Given the description of an element on the screen output the (x, y) to click on. 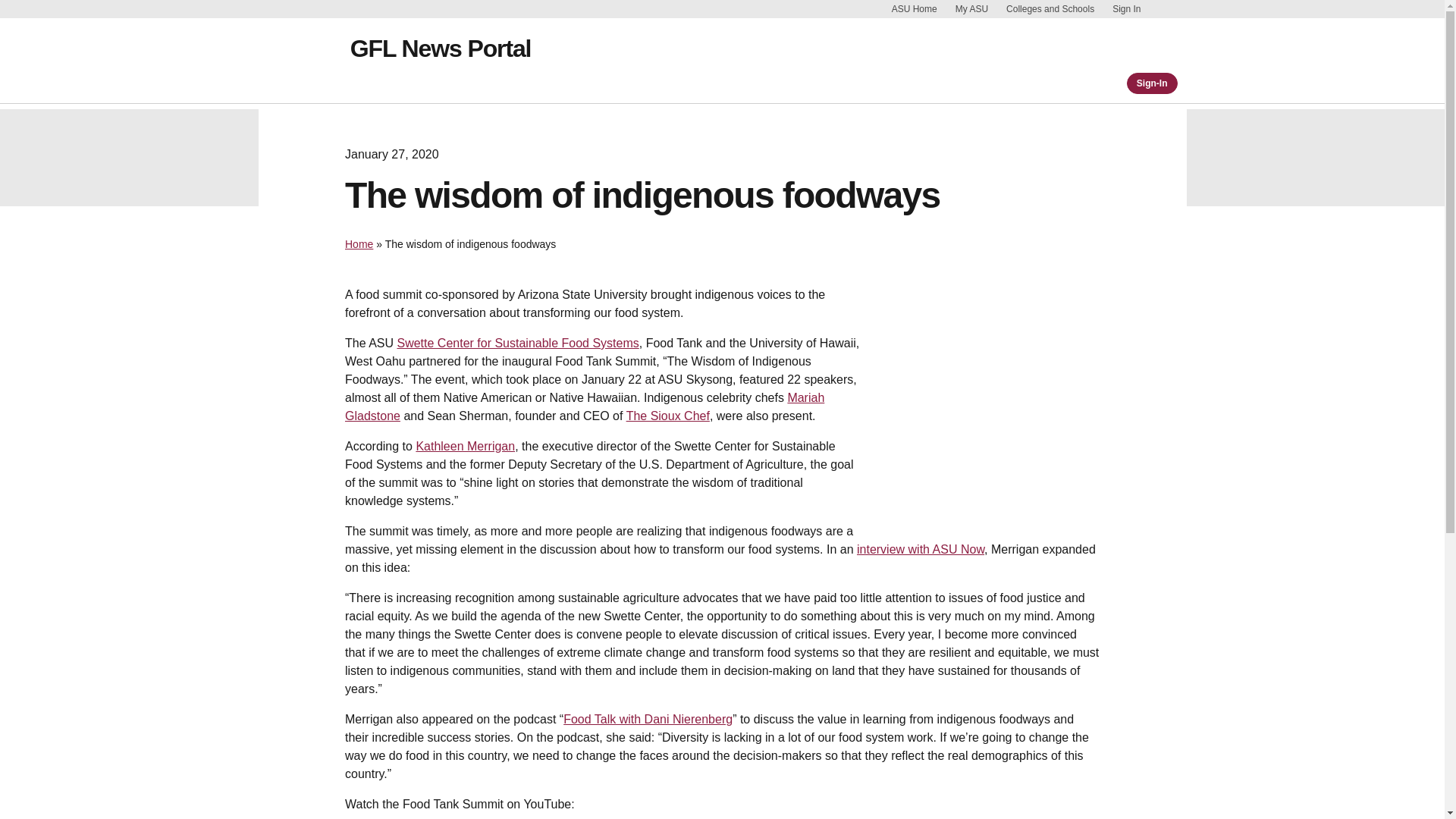
Colleges and Schools (1050, 8)
Kathleen Merrigan (464, 445)
The Sioux Chef (668, 415)
Mariah Gladstone (584, 406)
ASU home (307, 60)
Food Talk with Dani Nierenberg (647, 718)
ASU Home (914, 8)
Skip to Content (1164, 8)
interview with ASU Now (920, 549)
Swette Center for Sustainable Food Systems (517, 342)
